Given the description of an element on the screen output the (x, y) to click on. 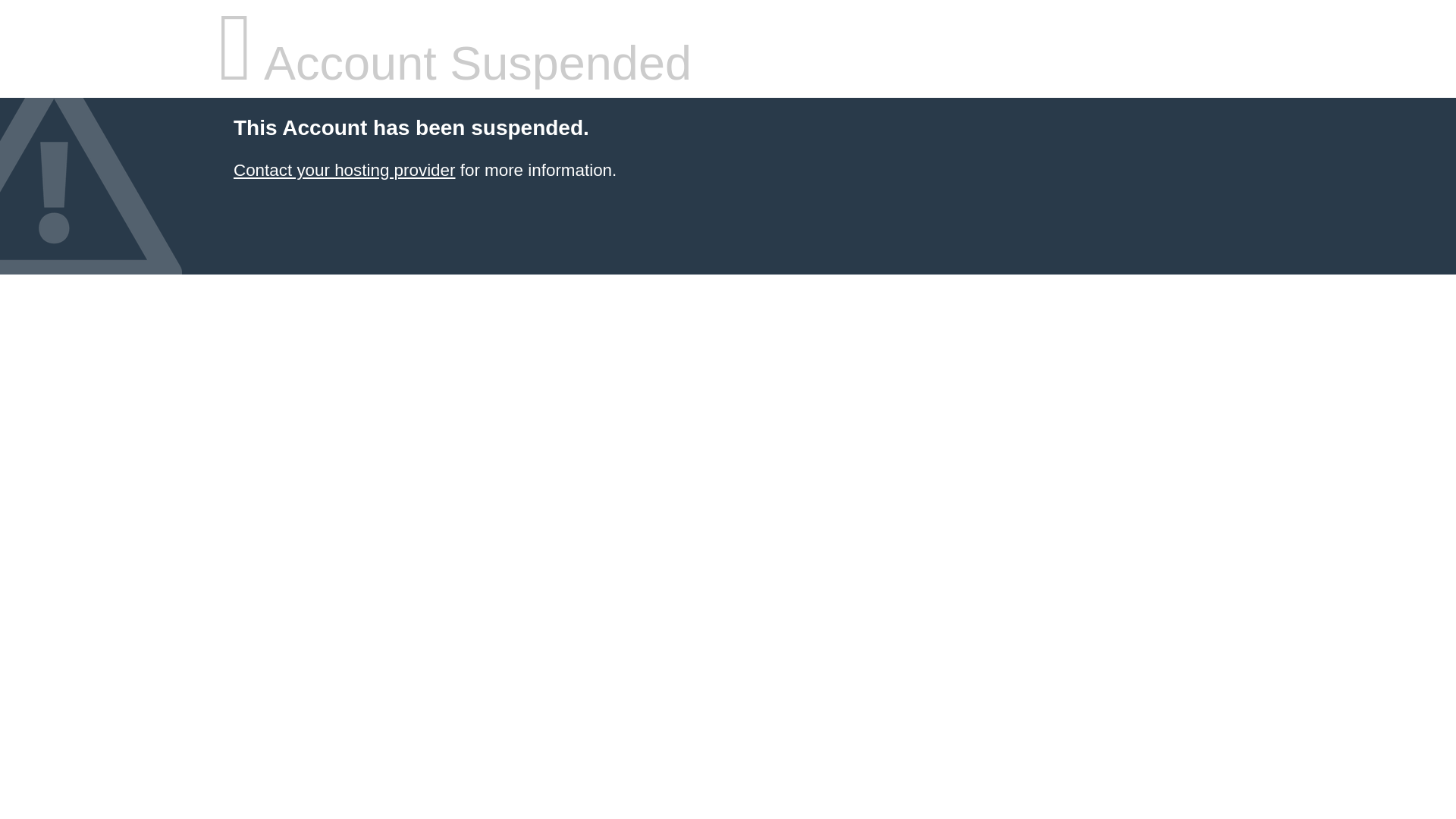
Contact your hosting provider (343, 169)
